Given the description of an element on the screen output the (x, y) to click on. 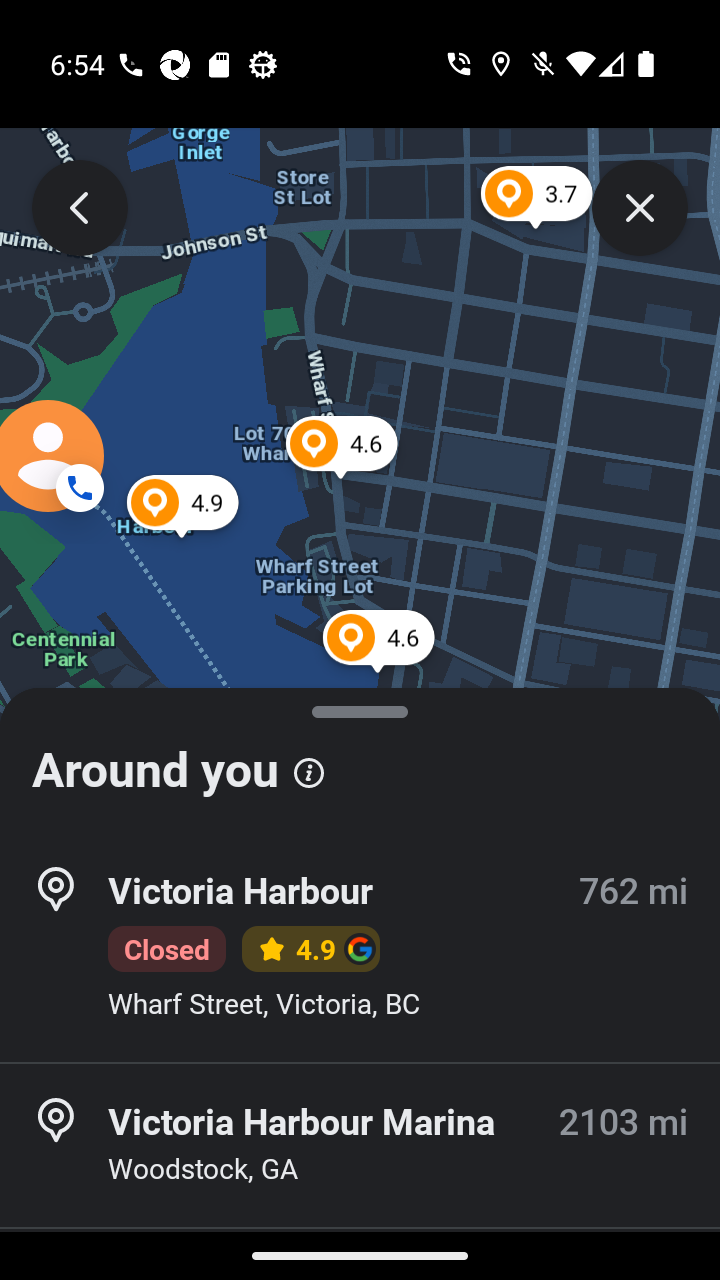
Around you (360, 760)
Victoria Harbour Marina 2103 mi Woodstock, GA (360, 1145)
Victoria 562 mi (360, 1254)
